Given the description of an element on the screen output the (x, y) to click on. 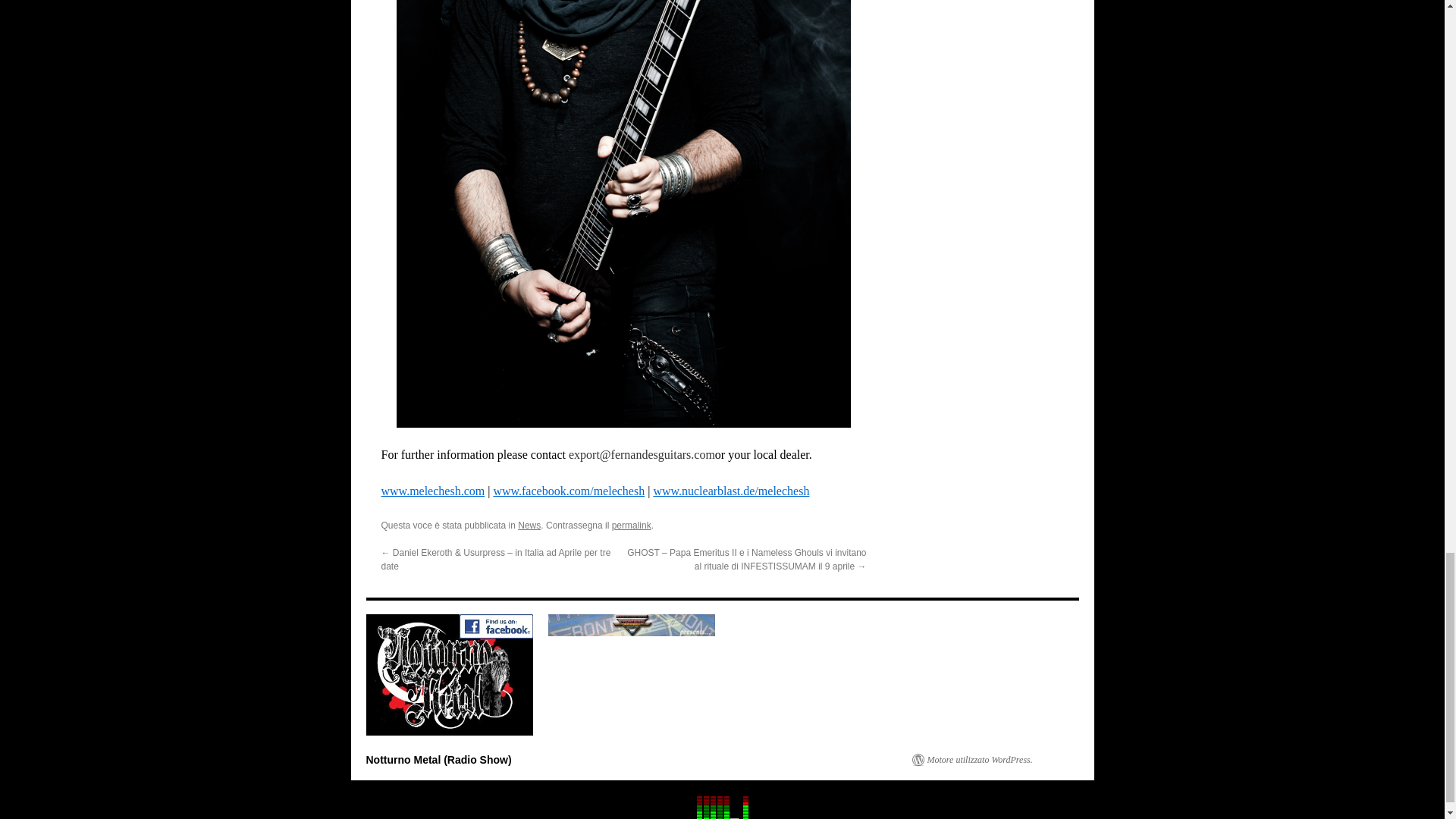
News (529, 525)
www.melechesh.com (432, 490)
permalink (630, 525)
